Given the description of an element on the screen output the (x, y) to click on. 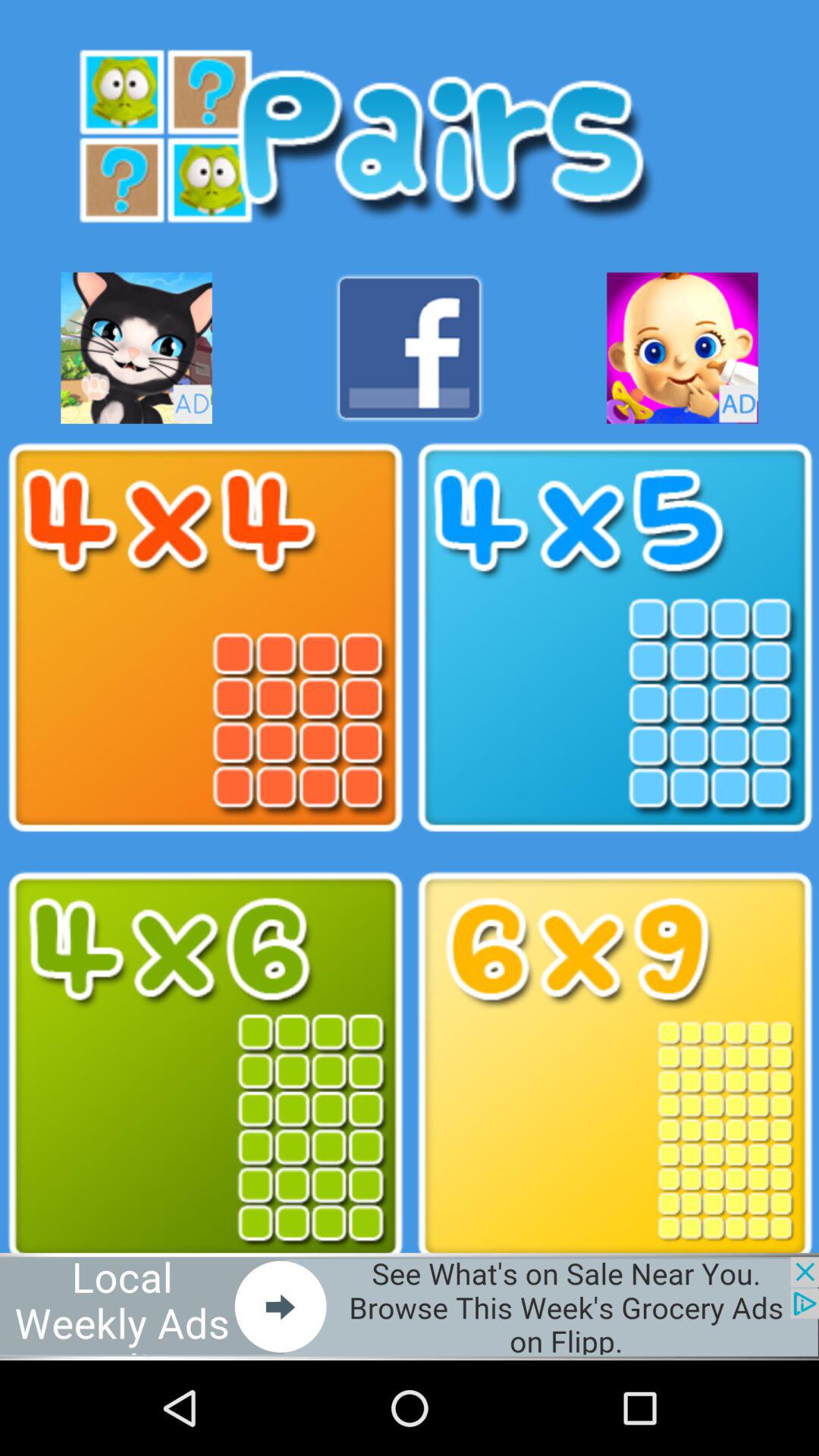
game page (614, 637)
